Given the description of an element on the screen output the (x, y) to click on. 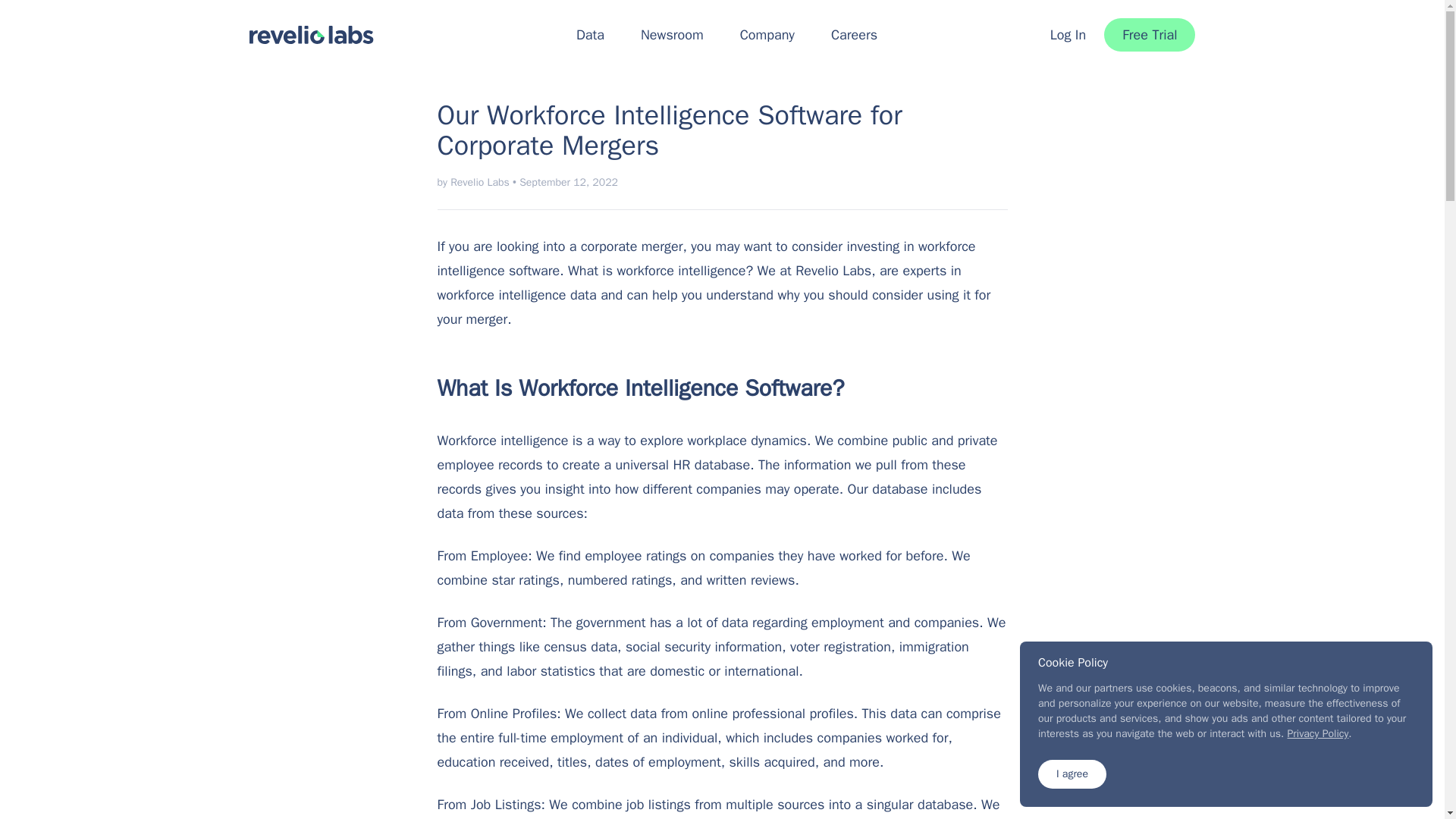
Data (590, 34)
I agree (1072, 774)
Log In (1067, 34)
Newsroom (671, 34)
Free Trial (1149, 34)
Careers (854, 34)
Privacy Policy (1318, 733)
Company (766, 34)
